Given the description of an element on the screen output the (x, y) to click on. 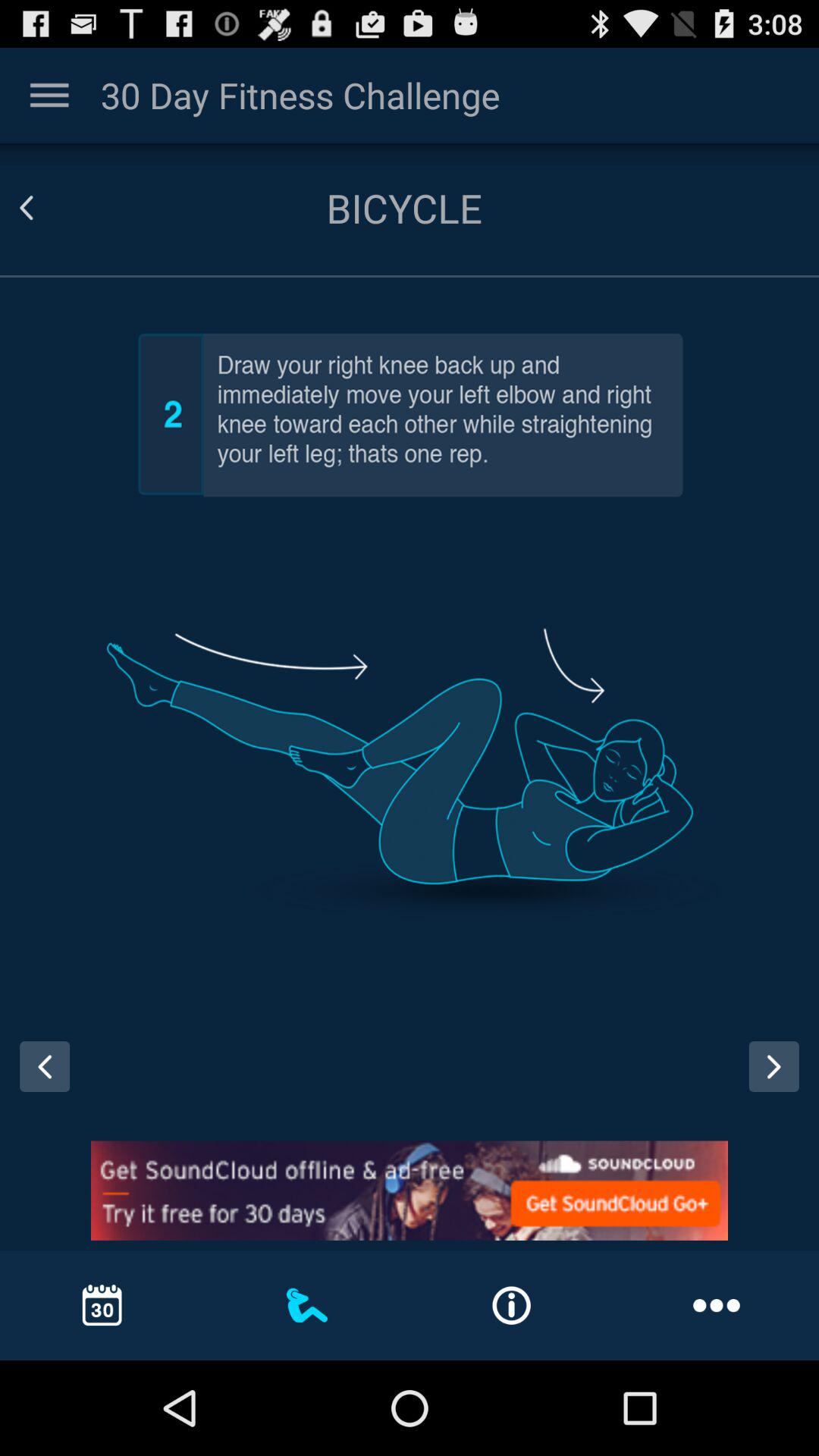
the button was made to move to the next page (779, 1081)
